Given the description of an element on the screen output the (x, y) to click on. 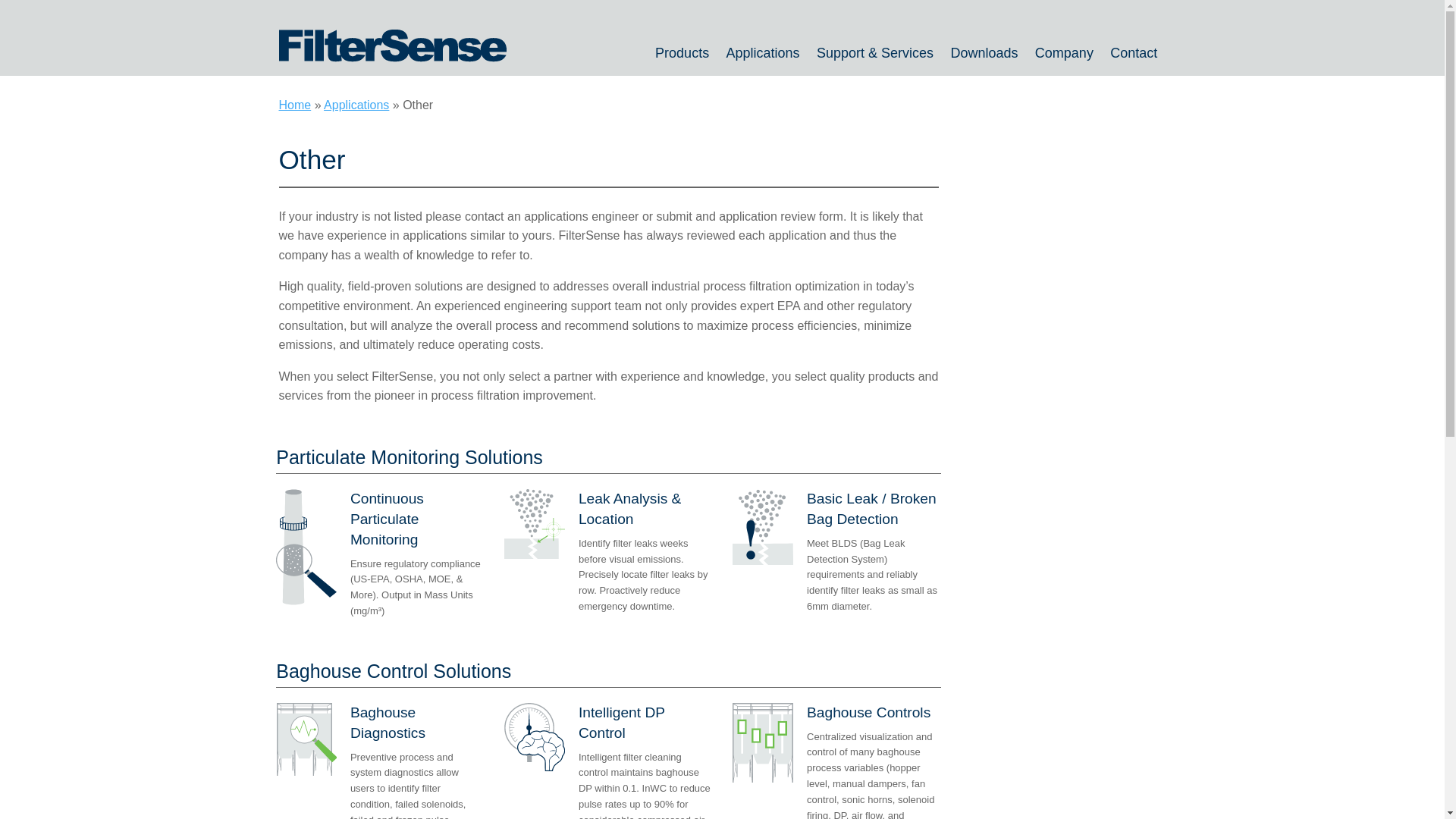
Products (681, 52)
Contact (1134, 52)
Applications (762, 52)
Go to FilterSense. (295, 104)
Downloads (984, 52)
Go to Applications. (355, 104)
Company (1064, 52)
